Given the description of an element on the screen output the (x, y) to click on. 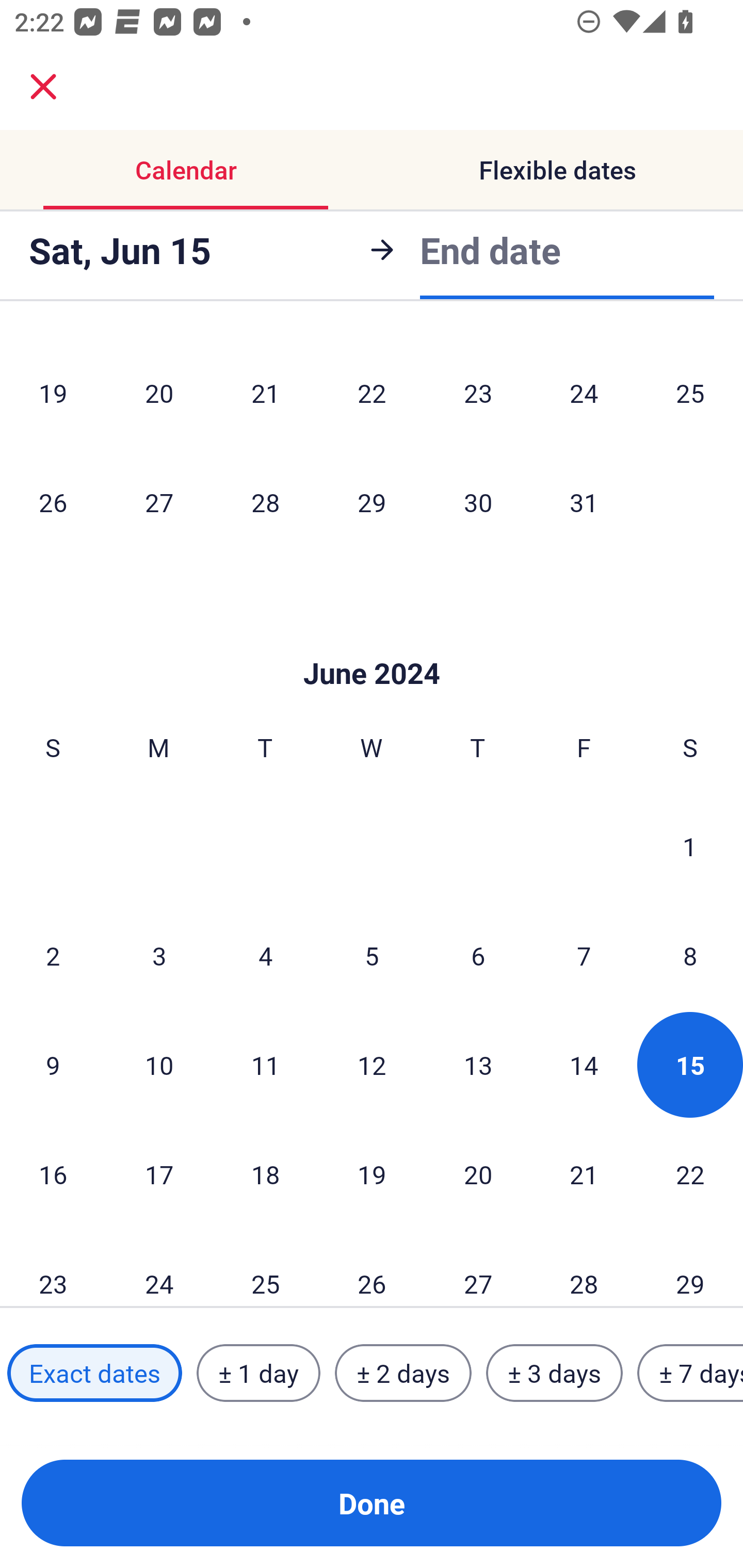
close. (43, 86)
Flexible dates (557, 170)
End date (489, 246)
19 Sunday, May 19, 2024 (53, 392)
20 Monday, May 20, 2024 (159, 392)
21 Tuesday, May 21, 2024 (265, 392)
22 Wednesday, May 22, 2024 (371, 392)
23 Thursday, May 23, 2024 (477, 392)
24 Friday, May 24, 2024 (584, 392)
25 Saturday, May 25, 2024 (690, 392)
26 Sunday, May 26, 2024 (53, 502)
27 Monday, May 27, 2024 (159, 502)
28 Tuesday, May 28, 2024 (265, 502)
29 Wednesday, May 29, 2024 (371, 502)
30 Thursday, May 30, 2024 (477, 502)
31 Friday, May 31, 2024 (584, 502)
Skip to Done (371, 642)
1 Saturday, June 1, 2024 (689, 845)
2 Sunday, June 2, 2024 (53, 955)
3 Monday, June 3, 2024 (159, 955)
4 Tuesday, June 4, 2024 (265, 955)
5 Wednesday, June 5, 2024 (371, 955)
6 Thursday, June 6, 2024 (477, 955)
7 Friday, June 7, 2024 (584, 955)
8 Saturday, June 8, 2024 (690, 955)
9 Sunday, June 9, 2024 (53, 1064)
10 Monday, June 10, 2024 (159, 1064)
11 Tuesday, June 11, 2024 (265, 1064)
12 Wednesday, June 12, 2024 (371, 1064)
13 Thursday, June 13, 2024 (477, 1064)
14 Friday, June 14, 2024 (584, 1064)
16 Sunday, June 16, 2024 (53, 1174)
17 Monday, June 17, 2024 (159, 1174)
18 Tuesday, June 18, 2024 (265, 1174)
19 Wednesday, June 19, 2024 (371, 1174)
20 Thursday, June 20, 2024 (477, 1174)
21 Friday, June 21, 2024 (584, 1174)
22 Saturday, June 22, 2024 (690, 1174)
23 Sunday, June 23, 2024 (53, 1268)
24 Monday, June 24, 2024 (159, 1268)
25 Tuesday, June 25, 2024 (265, 1268)
26 Wednesday, June 26, 2024 (371, 1268)
27 Thursday, June 27, 2024 (477, 1268)
28 Friday, June 28, 2024 (584, 1268)
29 Saturday, June 29, 2024 (690, 1268)
Exact dates (94, 1372)
± 1 day (258, 1372)
± 2 days (403, 1372)
± 3 days (553, 1372)
± 7 days (690, 1372)
